Given the description of an element on the screen output the (x, y) to click on. 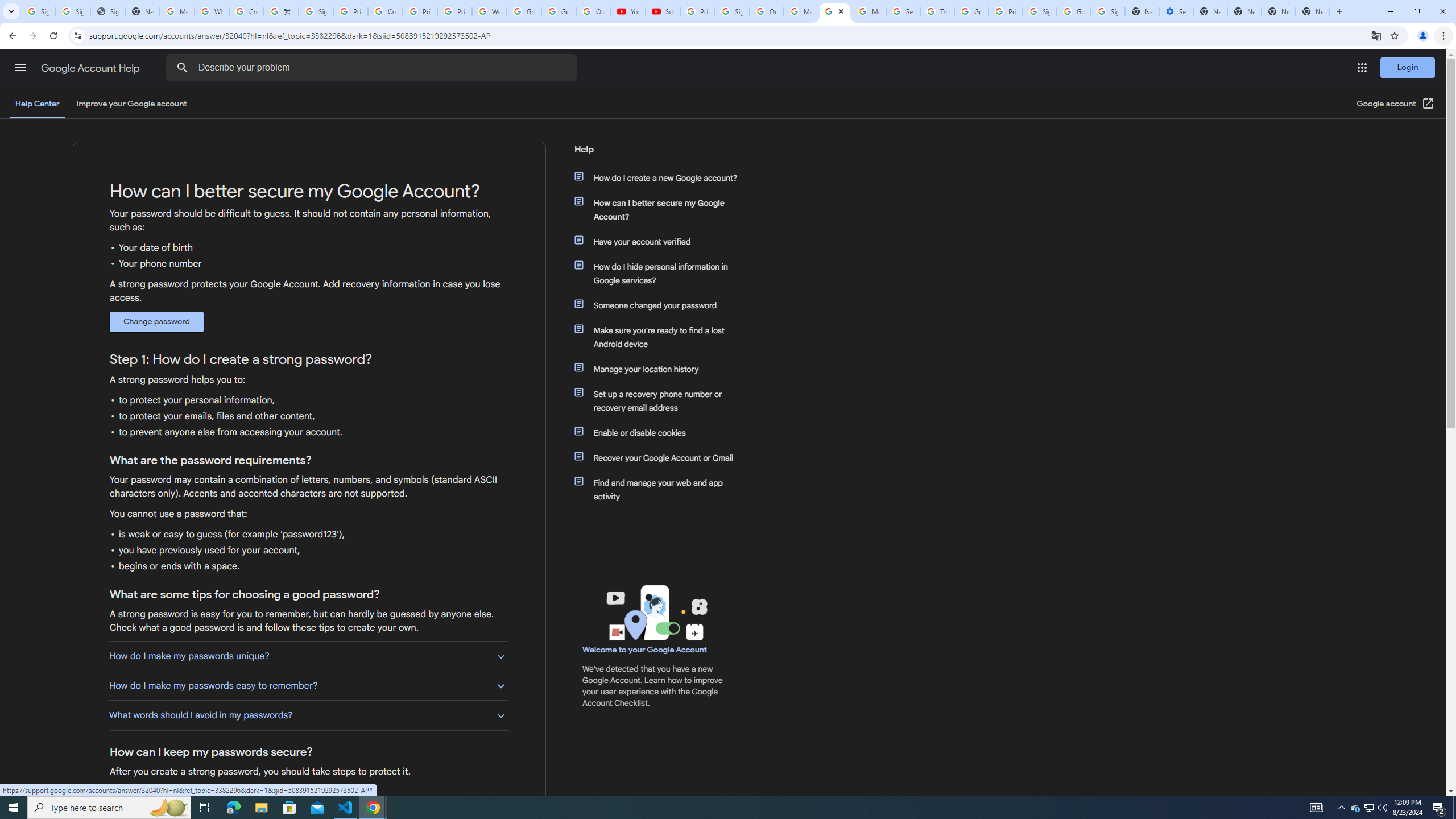
Login (1407, 67)
Find and manage your web and app activity (661, 489)
Welcome to your Google Account (644, 649)
Improve your Google account (131, 103)
Make sure you're ready to find a lost Android device (661, 336)
Google Account Help (91, 68)
Settings - Performance (1176, 11)
Change password (156, 322)
Google Cybersecurity Innovations - Google Safety Center (1073, 11)
Google Ads - Sign in (970, 11)
